Given the description of an element on the screen output the (x, y) to click on. 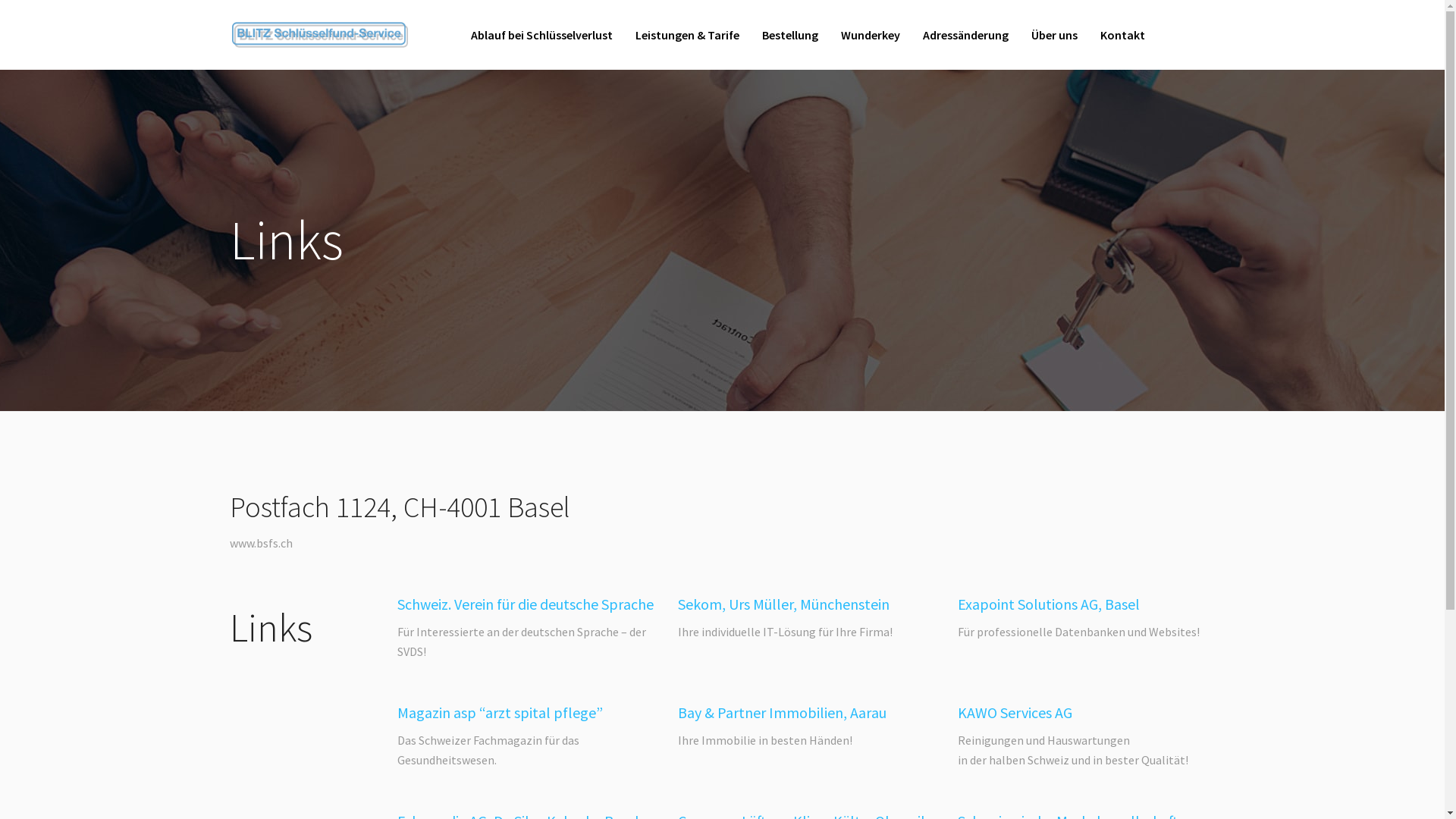
Bay & Partner Immobilien, Aarau Element type: text (781, 711)
Leistungen & Tarife Element type: text (686, 34)
KAWO Services AG Element type: text (1014, 711)
Exapoint Solutions AG, Basel Element type: text (1048, 603)
Wunderkey Element type: text (870, 34)
Bestellung Element type: text (789, 34)
Kontakt Element type: text (1122, 34)
